Given the description of an element on the screen output the (x, y) to click on. 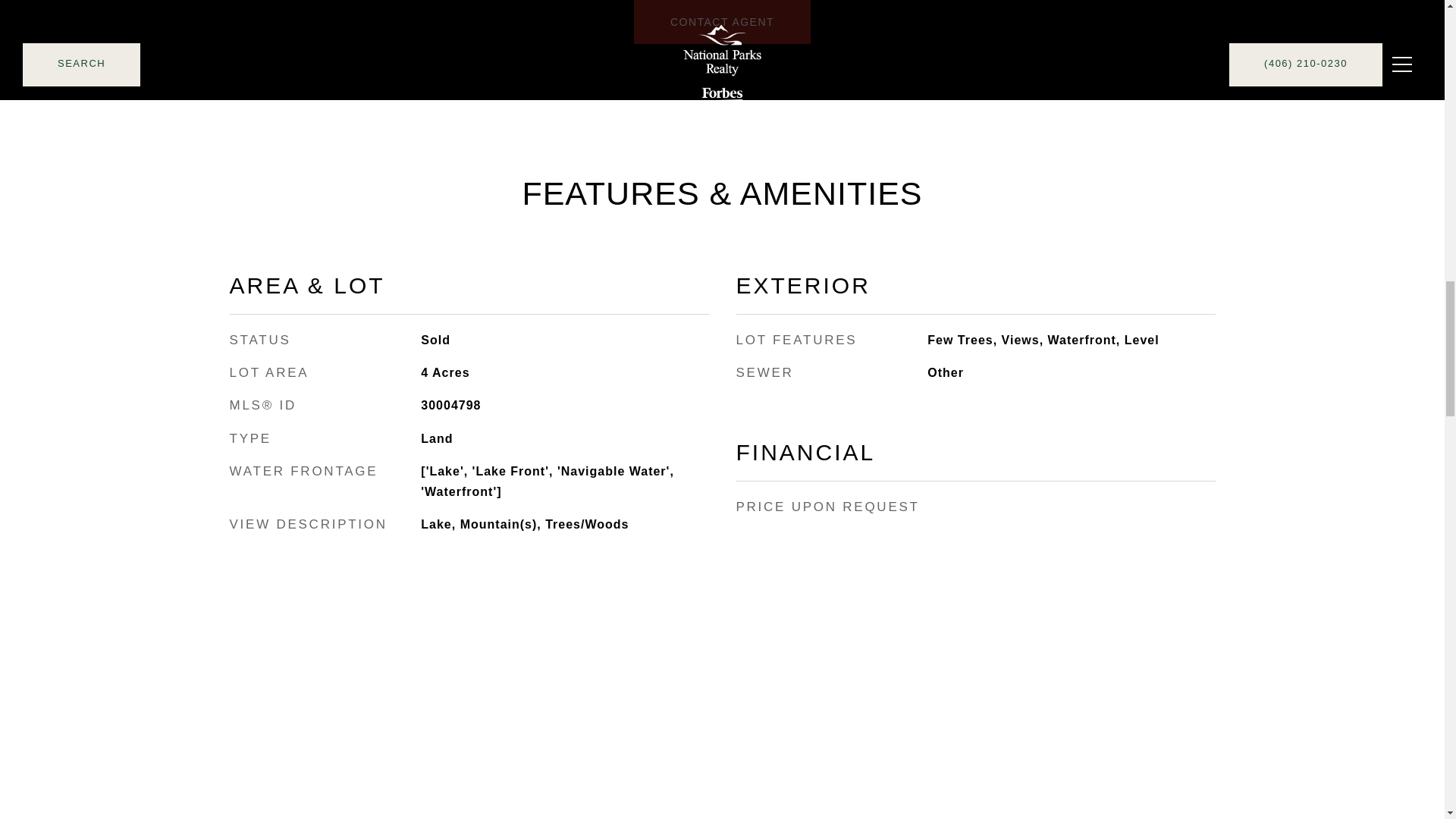
CONTACT AGENT (721, 22)
